Given the description of an element on the screen output the (x, y) to click on. 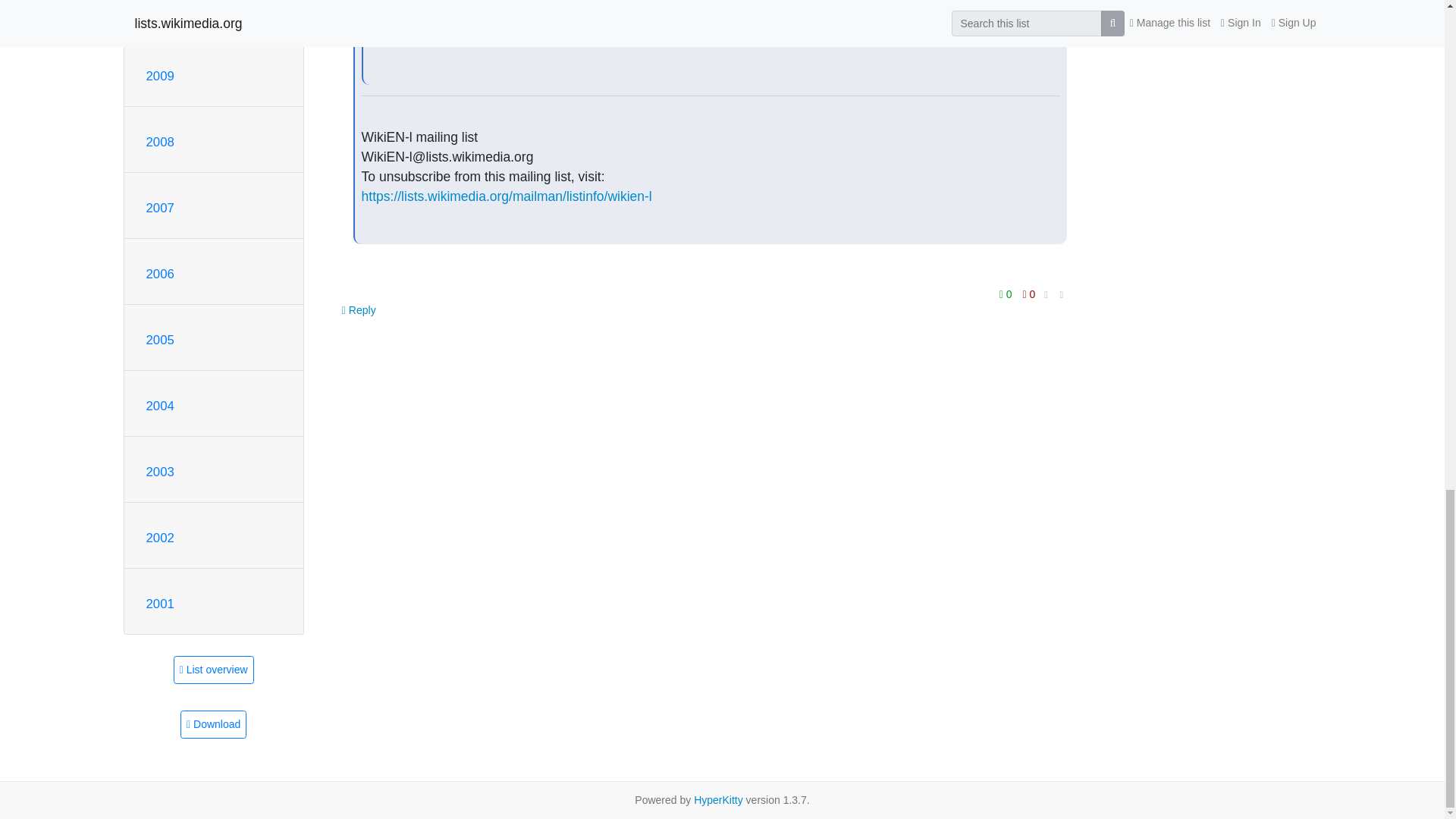
You must be logged-in to vote. (1007, 293)
Sign in to reply online (359, 309)
You must be logged-in to vote. (1029, 293)
This message in gzipped mbox format (213, 724)
